Given the description of an element on the screen output the (x, y) to click on. 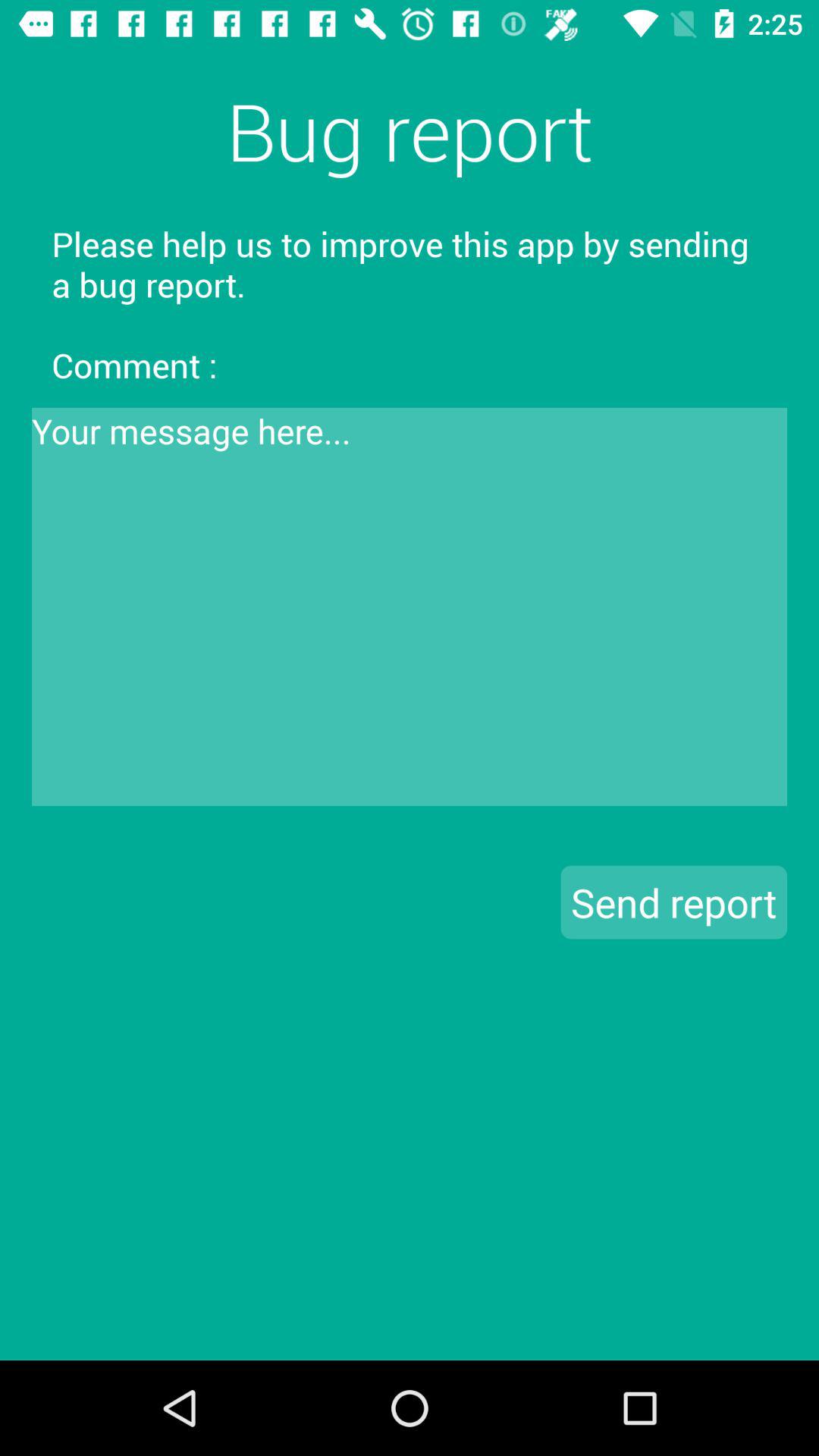
turn on send report item (673, 902)
